Given the description of an element on the screen output the (x, y) to click on. 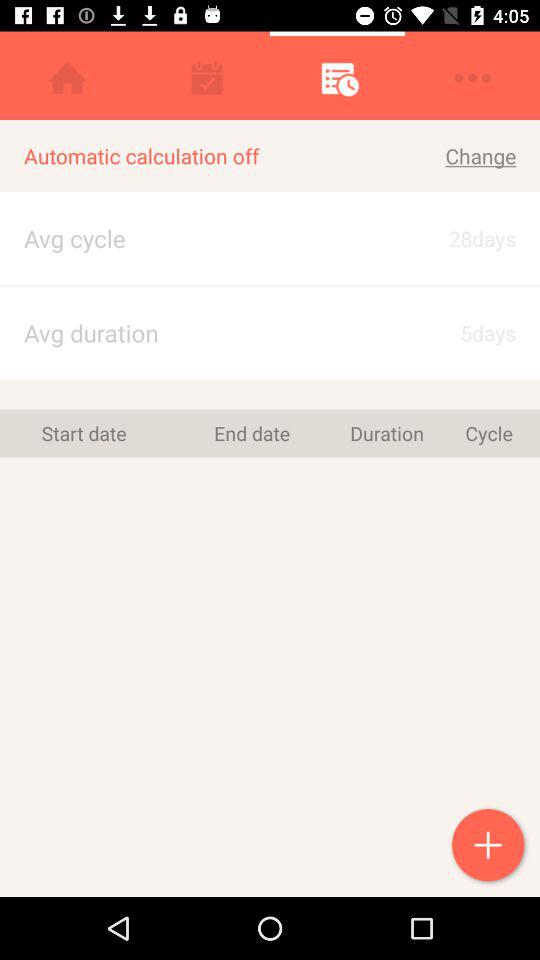
choose the 28days icon (463, 238)
